Given the description of an element on the screen output the (x, y) to click on. 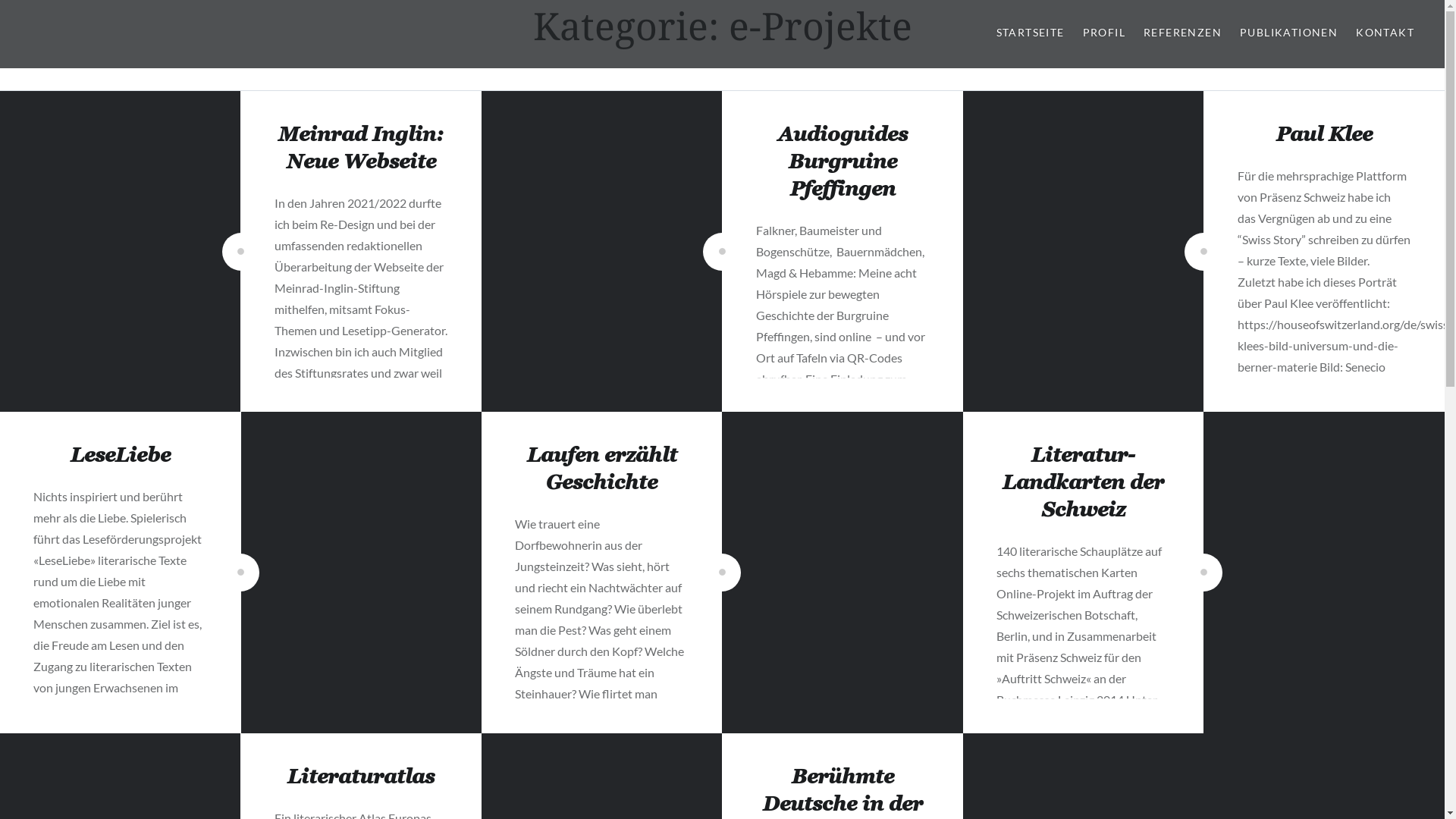
LeseLiebe Element type: text (120, 457)
PUBLIKATIONEN Element type: text (1288, 32)
REFERENZEN Element type: text (1182, 32)
Suchen: Element type: text (577, 19)
Audioguides Burgruine Pfeffingen Element type: text (842, 162)
PROFIL Element type: text (1103, 32)
Meinrad Inglin: Neue Webseite Element type: text (360, 148)
STARTSEITE Element type: text (1030, 32)
Literaturatlas Element type: text (360, 777)
Literatur-Landkarten der Schweiz Element type: text (1083, 484)
KONTAKT Element type: text (1384, 32)
Paul Klee Element type: text (1324, 135)
